Given the description of an element on the screen output the (x, y) to click on. 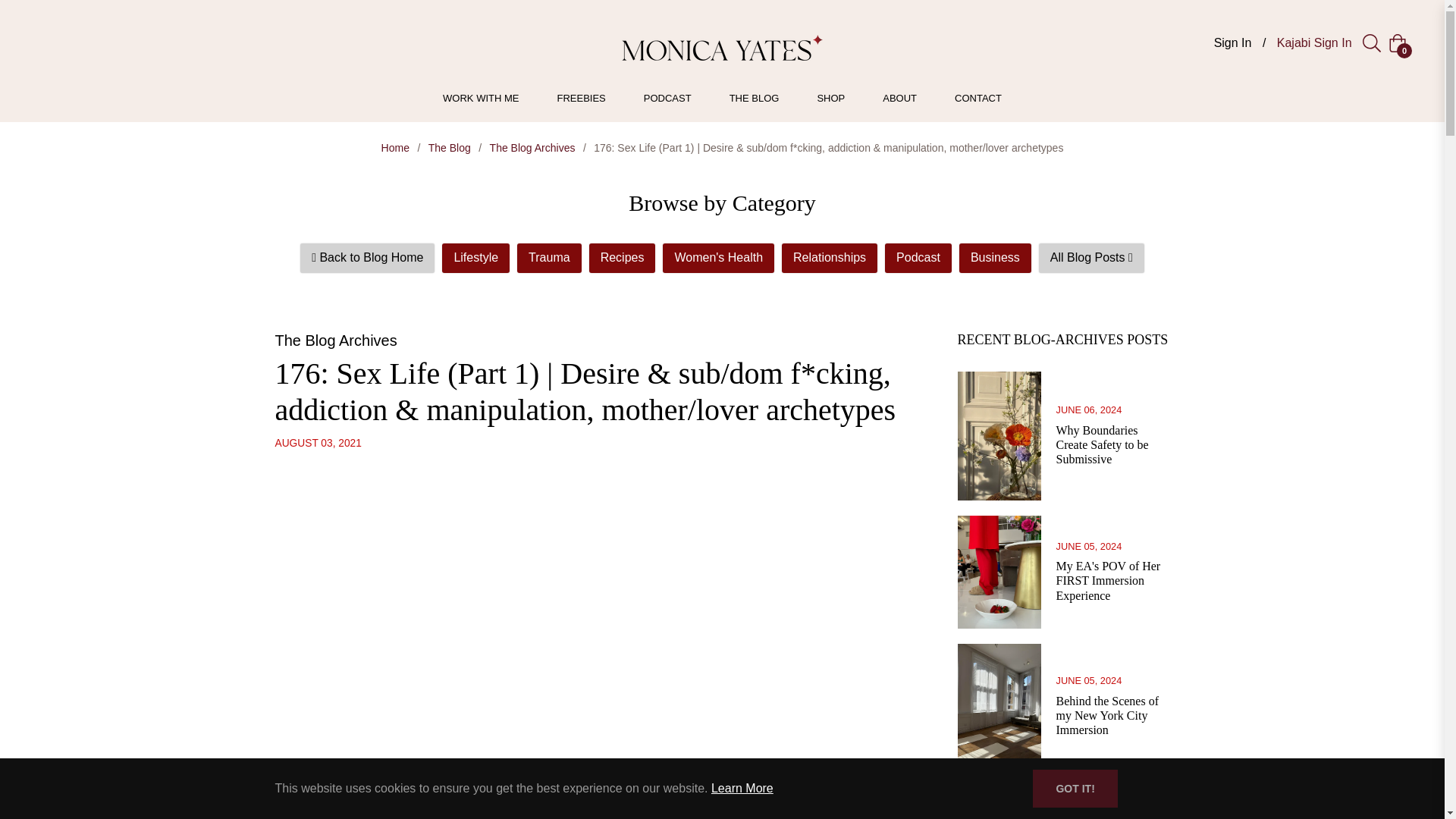
Home (395, 147)
Sign In (1233, 42)
Kajabi Sign In  (1315, 42)
WORK WITH ME (480, 98)
Shopping Cart (1397, 43)
FREEBIES (580, 98)
